Given the description of an element on the screen output the (x, y) to click on. 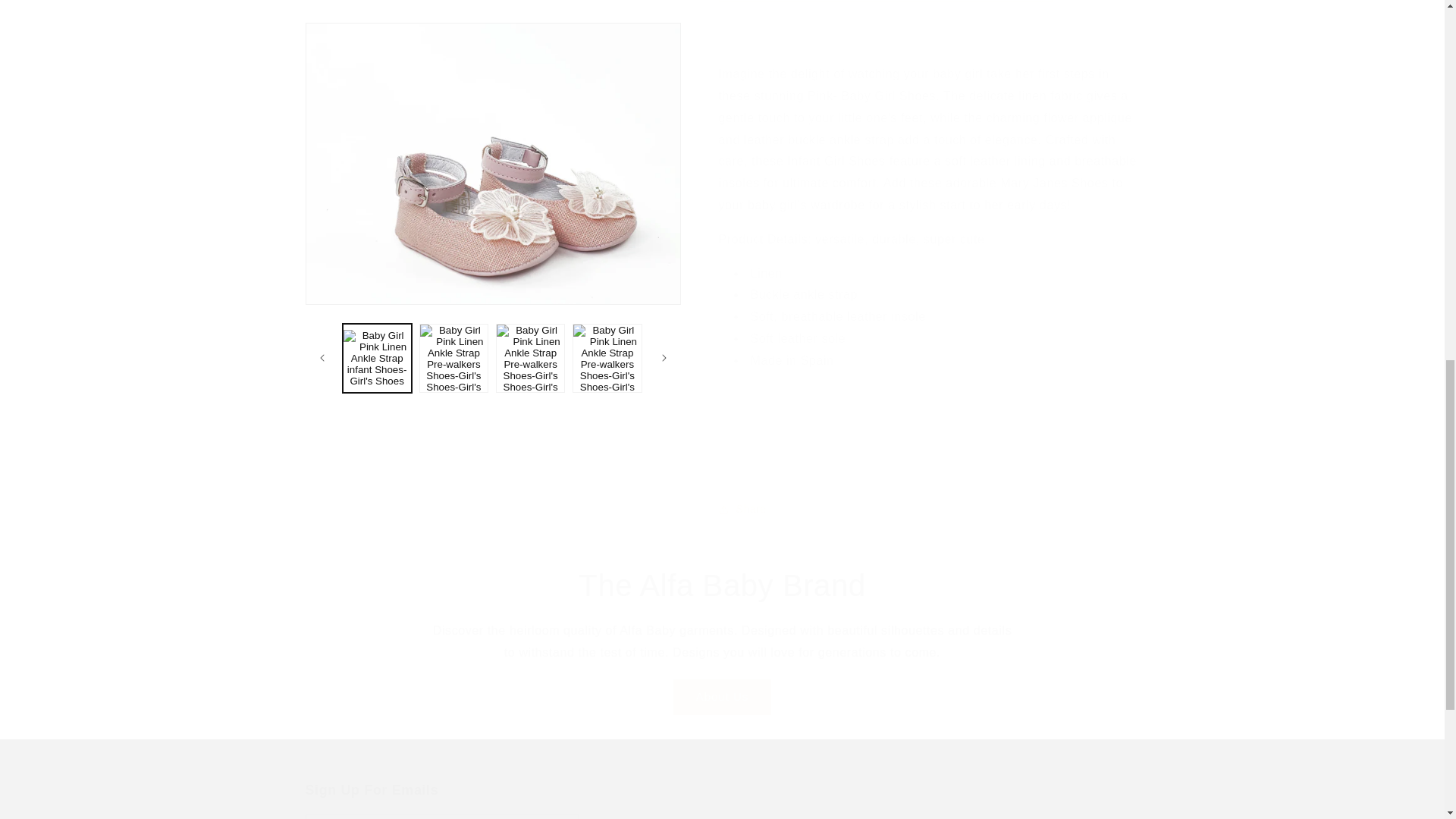
The Alfa Baby Brand (721, 585)
About Us (722, 696)
